Given the description of an element on the screen output the (x, y) to click on. 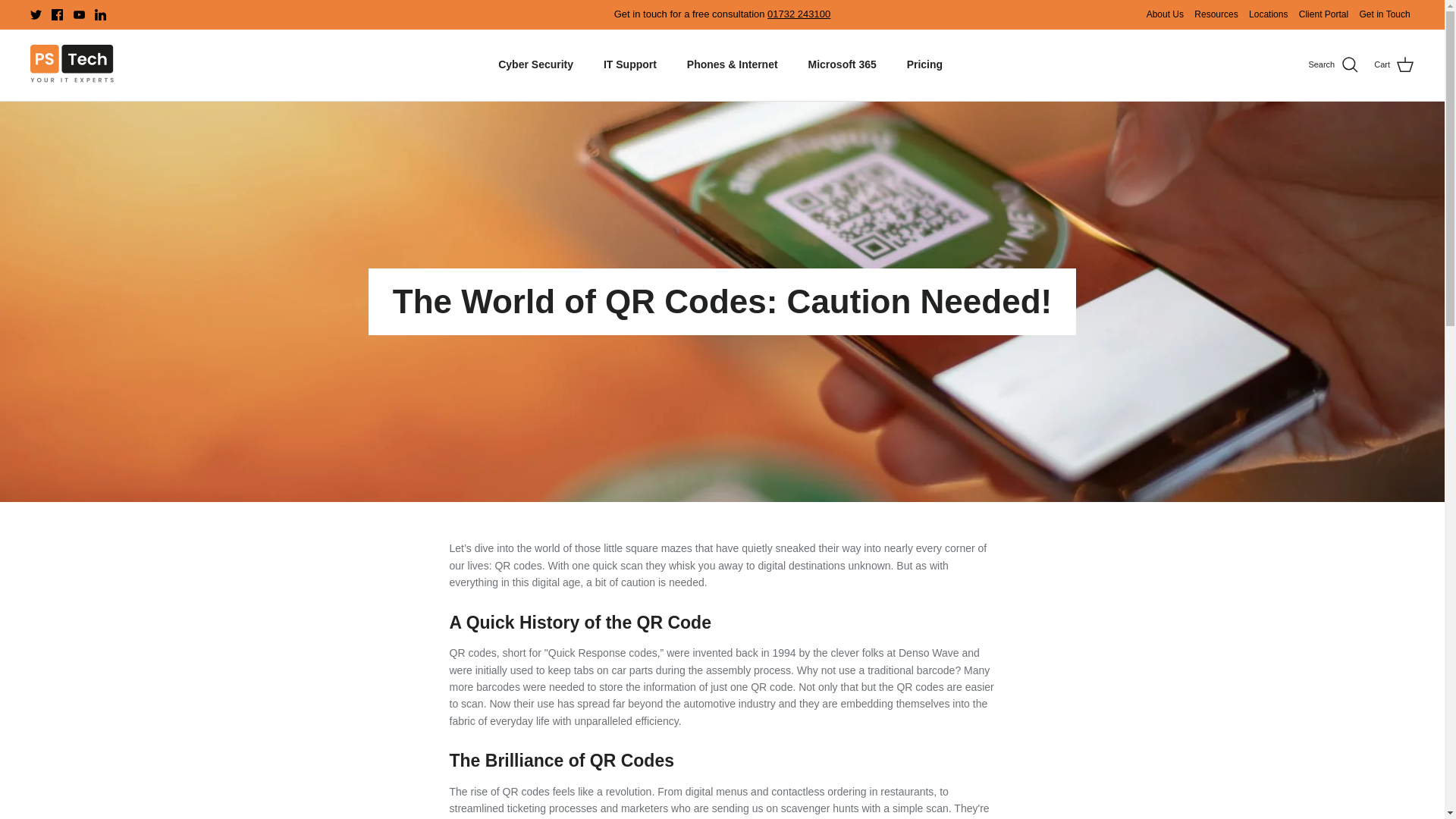
Youtube (79, 14)
Twitter (36, 14)
IT Support (629, 64)
Cart (1393, 65)
Youtube (79, 14)
Get in Touch (1383, 13)
PS Tech (71, 65)
Resources (1215, 13)
Twitter (36, 14)
Search (1332, 65)
Facebook (56, 14)
Cyber Security (535, 64)
Client Portal (1323, 13)
01732 243100 (798, 13)
Pricing (924, 64)
